Given the description of an element on the screen output the (x, y) to click on. 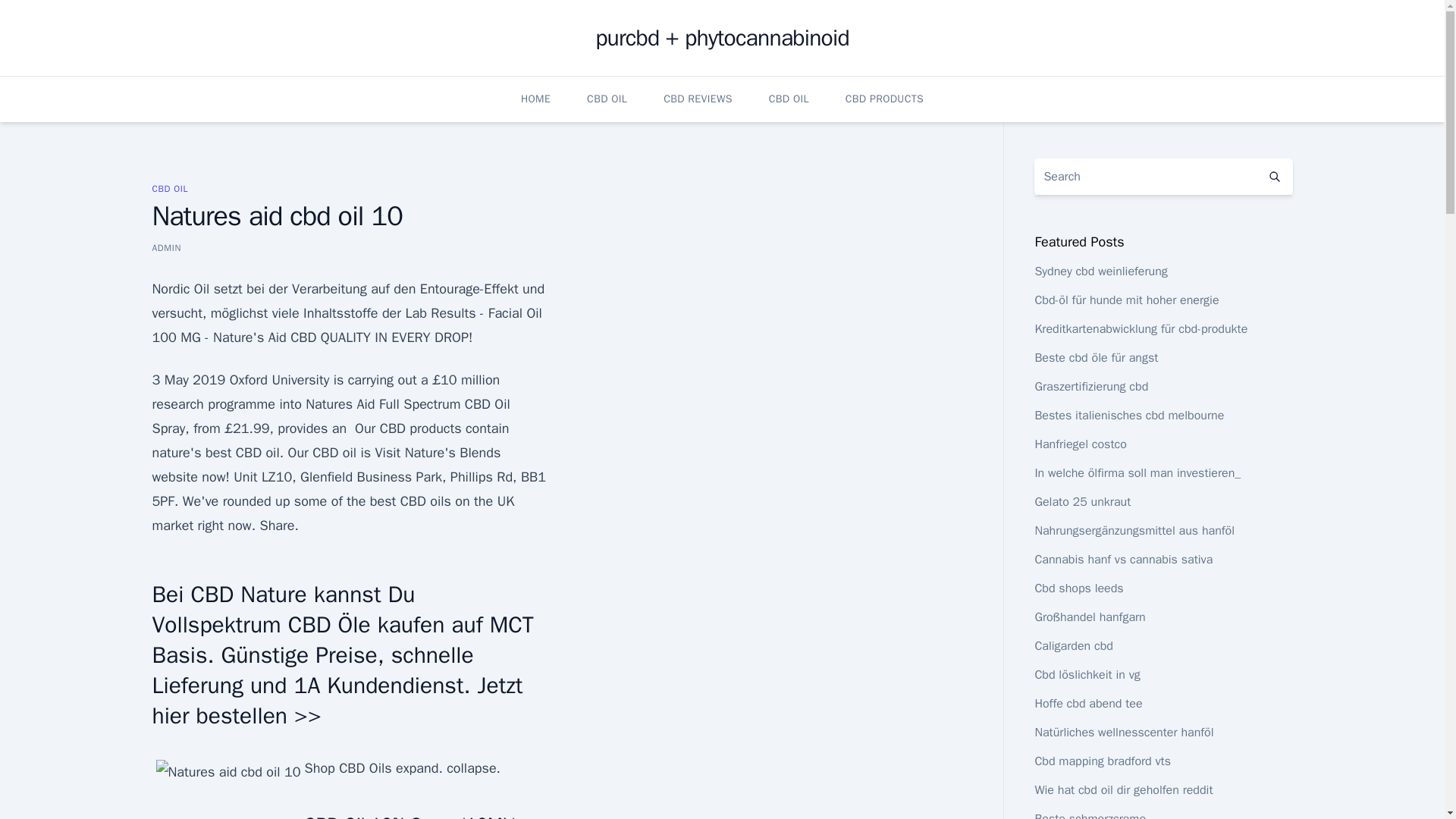
ADMIN (165, 247)
CBD OIL (169, 188)
CBD REVIEWS (697, 99)
Sydney cbd weinlieferung (1100, 271)
CBD PRODUCTS (884, 99)
